Given the description of an element on the screen output the (x, y) to click on. 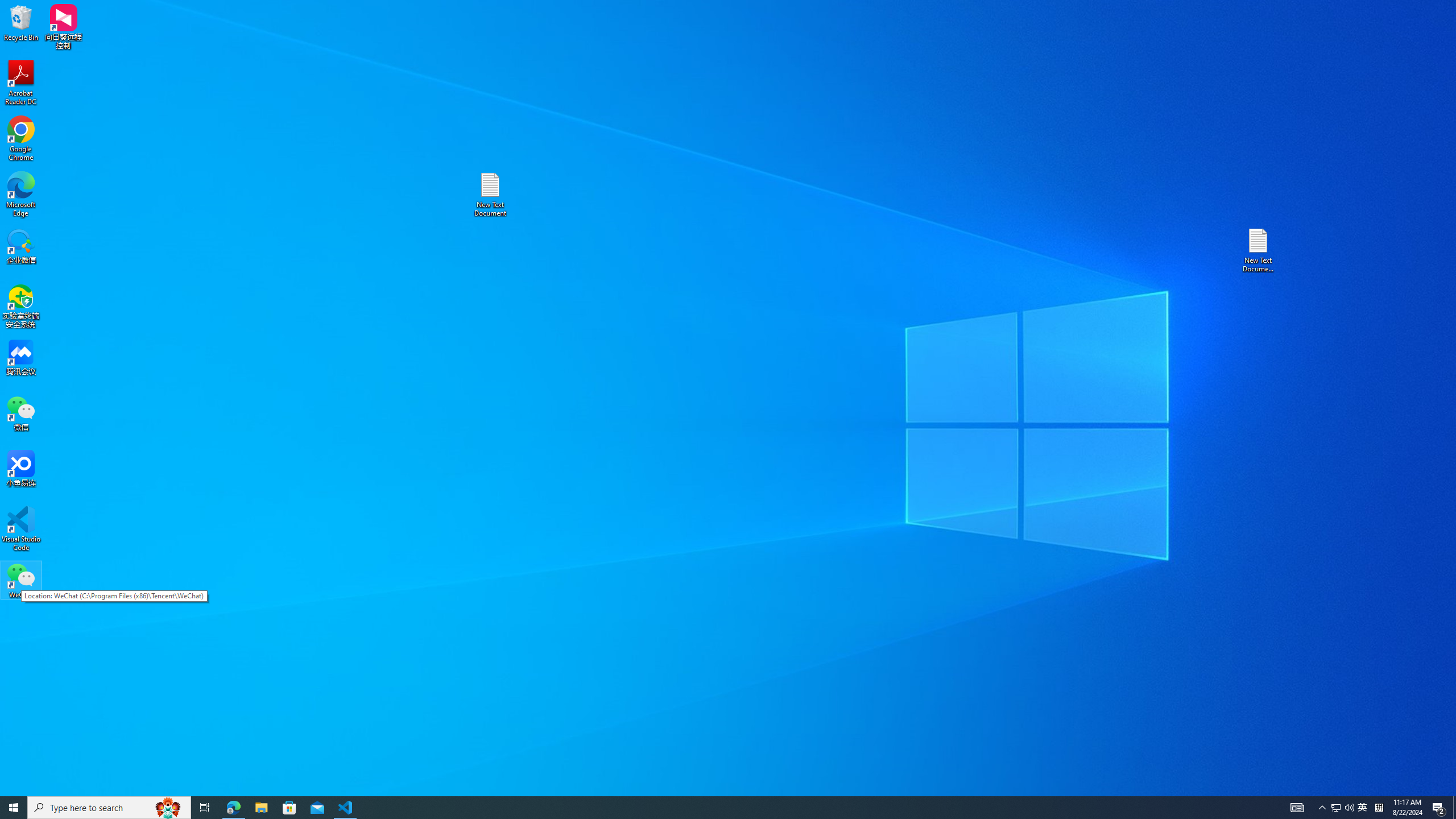
Visual Studio Code (21, 528)
Action Center, 2 new notifications (1439, 807)
Tray Input Indicator - Chinese (Simplified, China) (1378, 807)
AutomationID: 4105 (1297, 807)
